Given the description of an element on the screen output the (x, y) to click on. 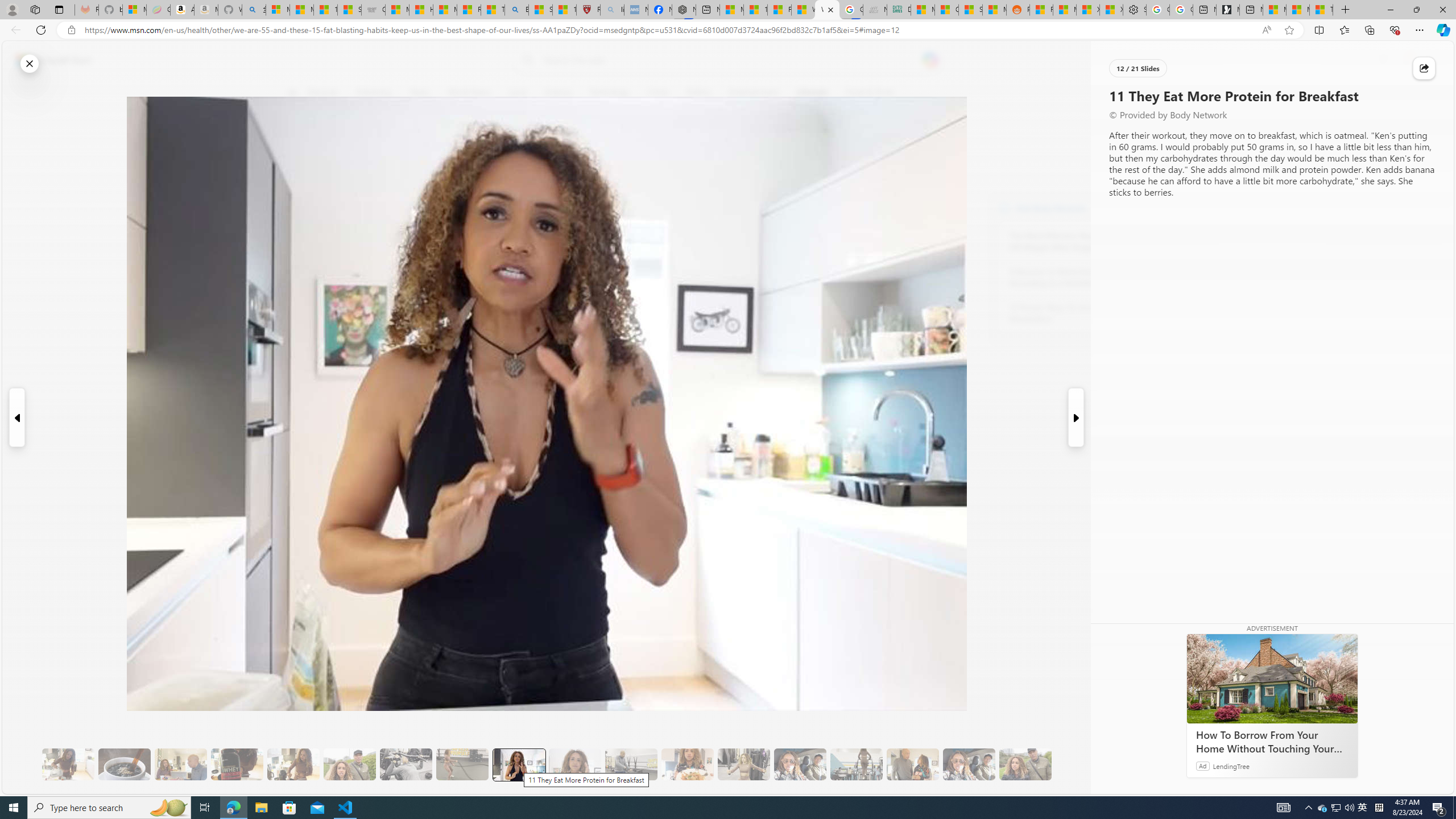
6 Like (299, 138)
3 They Drink Lemon Tea (68, 764)
Bing (515, 9)
16 The Couple's Program Helps with Accountability (800, 764)
20 Overall, It Will Improve Your Health (1024, 764)
